Given the description of an element on the screen output the (x, y) to click on. 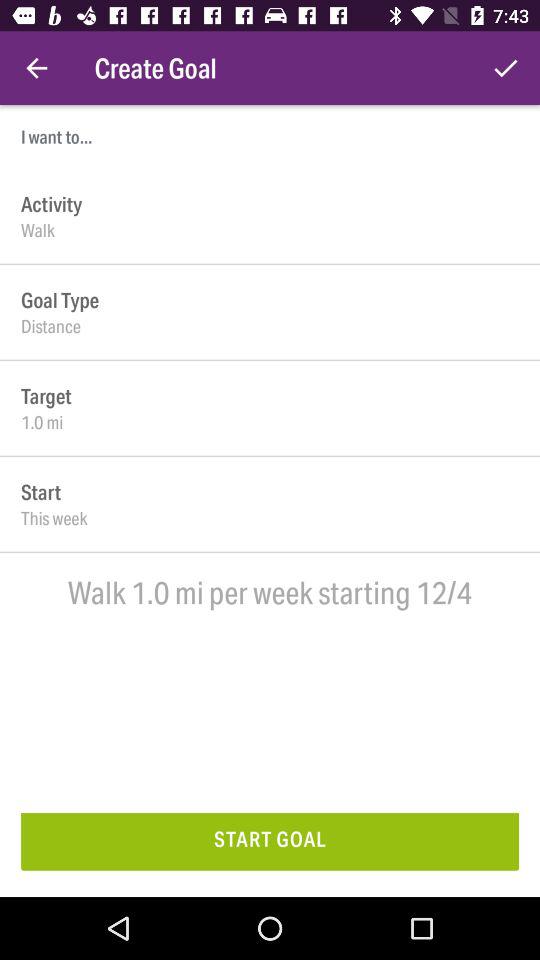
select item at the top right corner (505, 67)
